Given the description of an element on the screen output the (x, y) to click on. 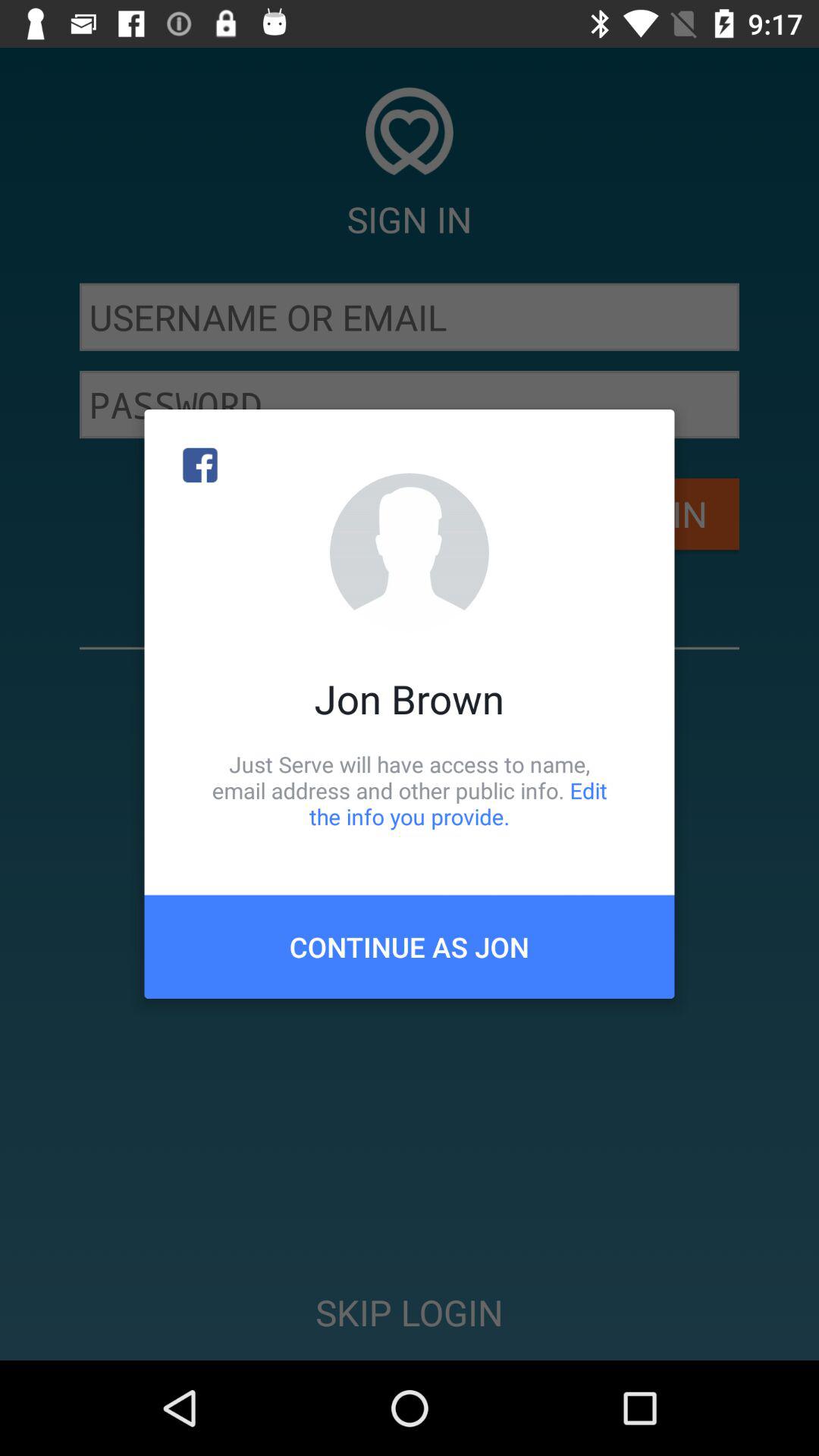
tap the continue as jon item (409, 946)
